Given the description of an element on the screen output the (x, y) to click on. 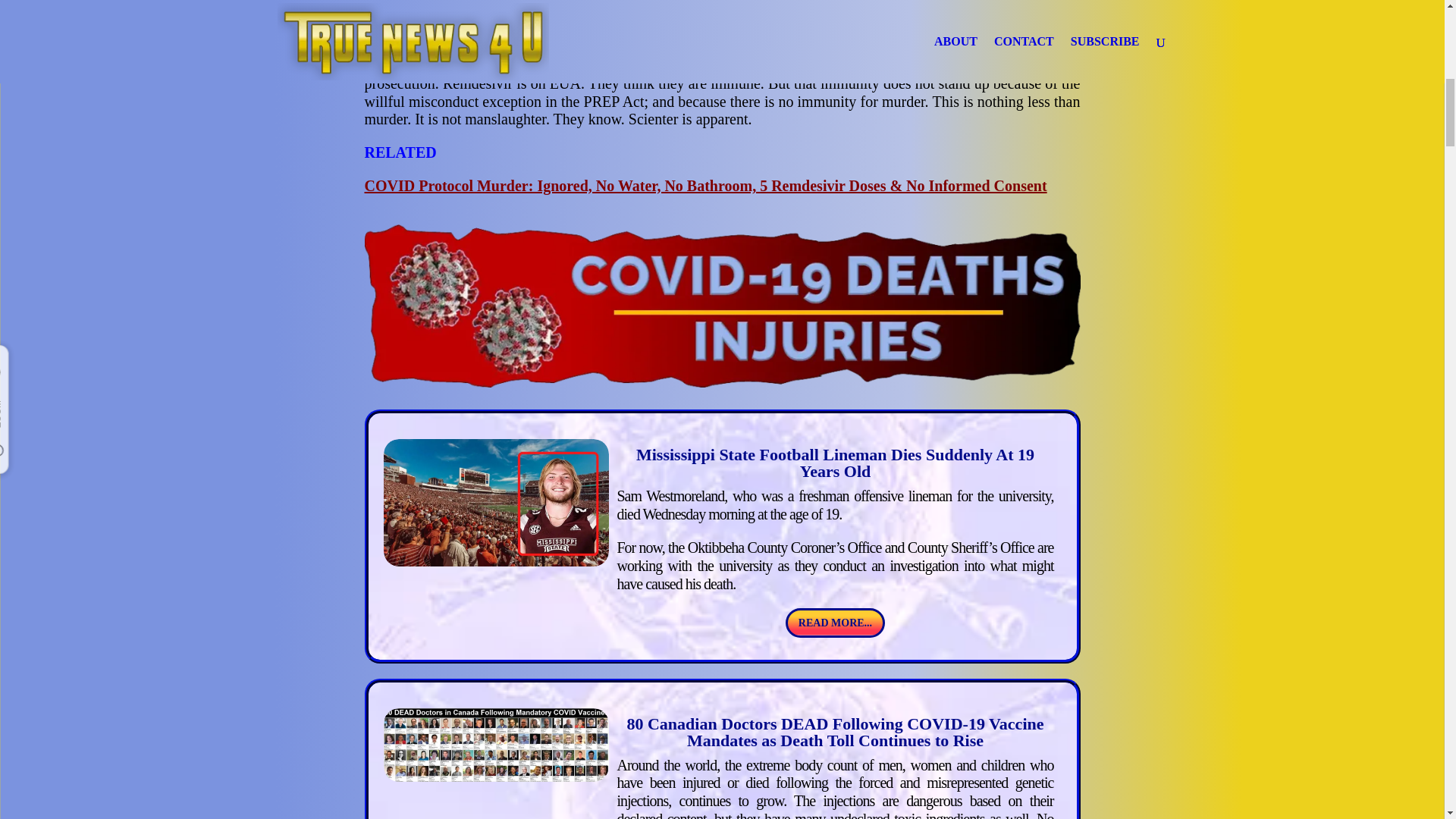
Covid Deaths and Injuries (722, 306)
READ MORE... (835, 622)
